Given the description of an element on the screen output the (x, y) to click on. 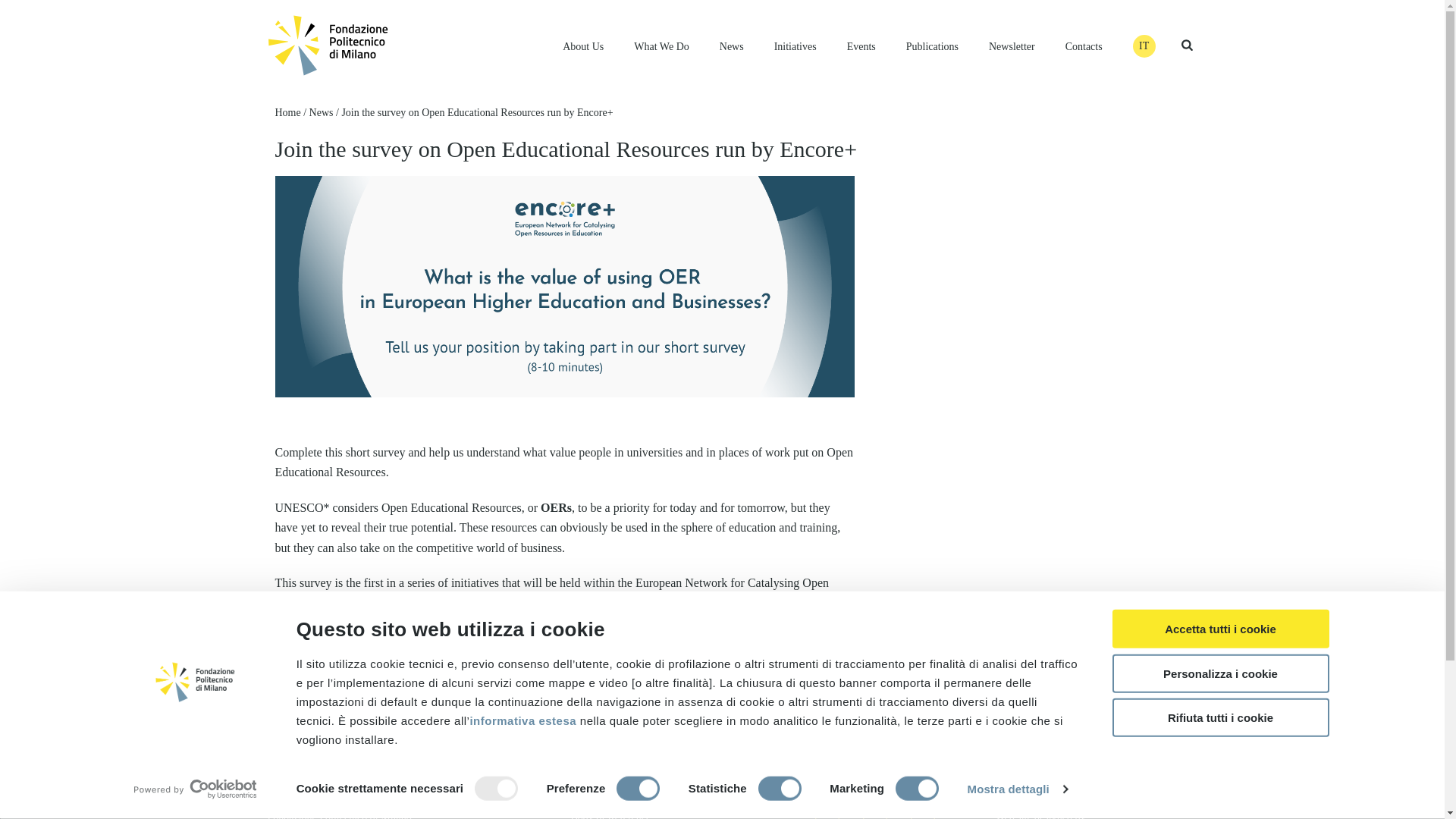
Contacts (1083, 45)
Publications (931, 45)
What We Do (660, 45)
Events (861, 45)
About Us (583, 45)
IT (1144, 46)
Newsletter (1011, 45)
Mostra dettagli (1017, 789)
Initiatives (795, 45)
News (731, 45)
